Given the description of an element on the screen output the (x, y) to click on. 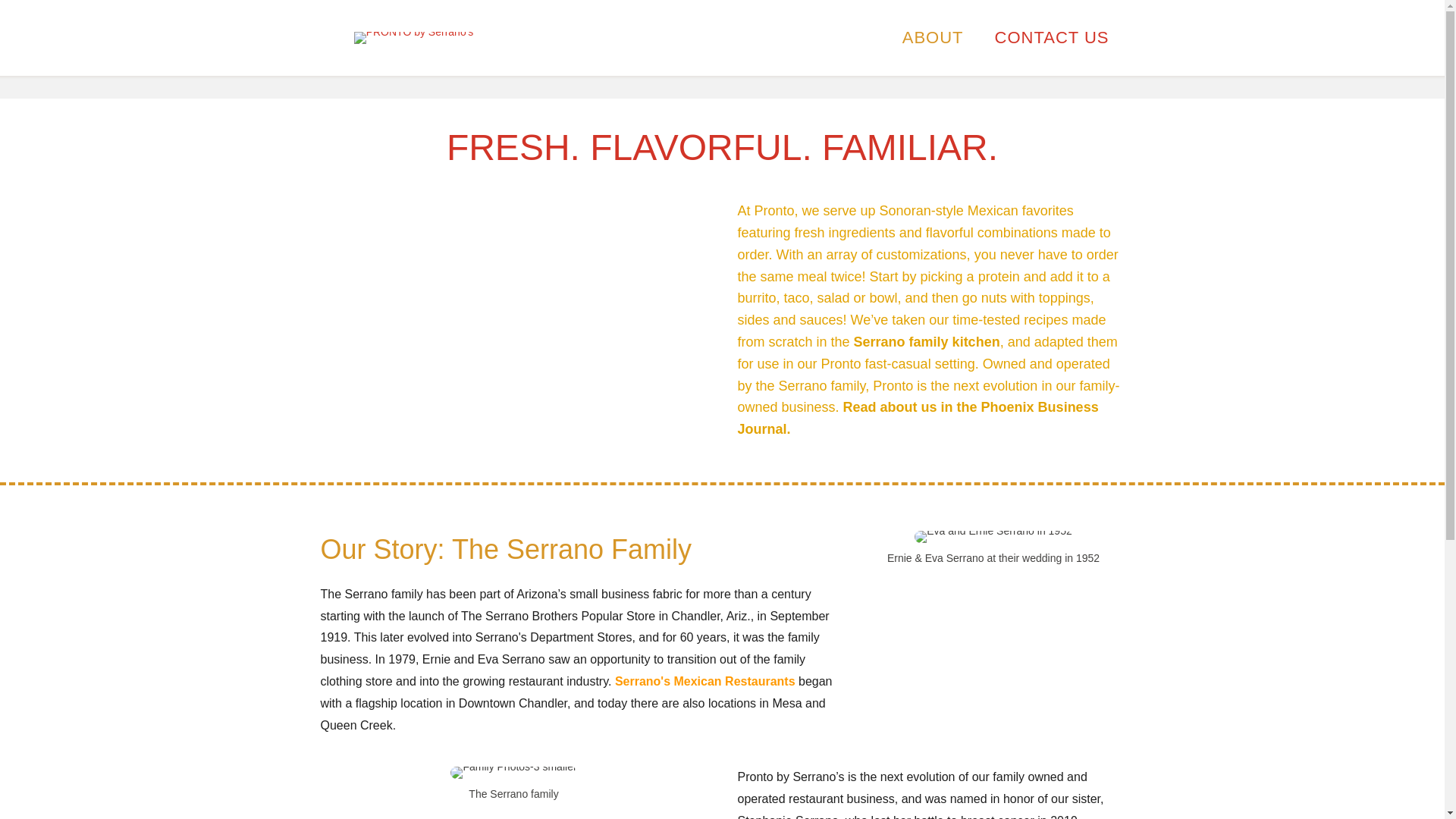
Serrano's Mexican Restaurants (704, 680)
ABOUT (932, 37)
Family Photos-3 smaller (512, 772)
Serrano family kitchen (926, 341)
Read about us in the Phoenix Business Journal. (916, 417)
Eva and Ernie Serrano in 1952 (992, 536)
CONTACT US (1051, 37)
PRONTO by Serrano's (413, 37)
